Given the description of an element on the screen output the (x, y) to click on. 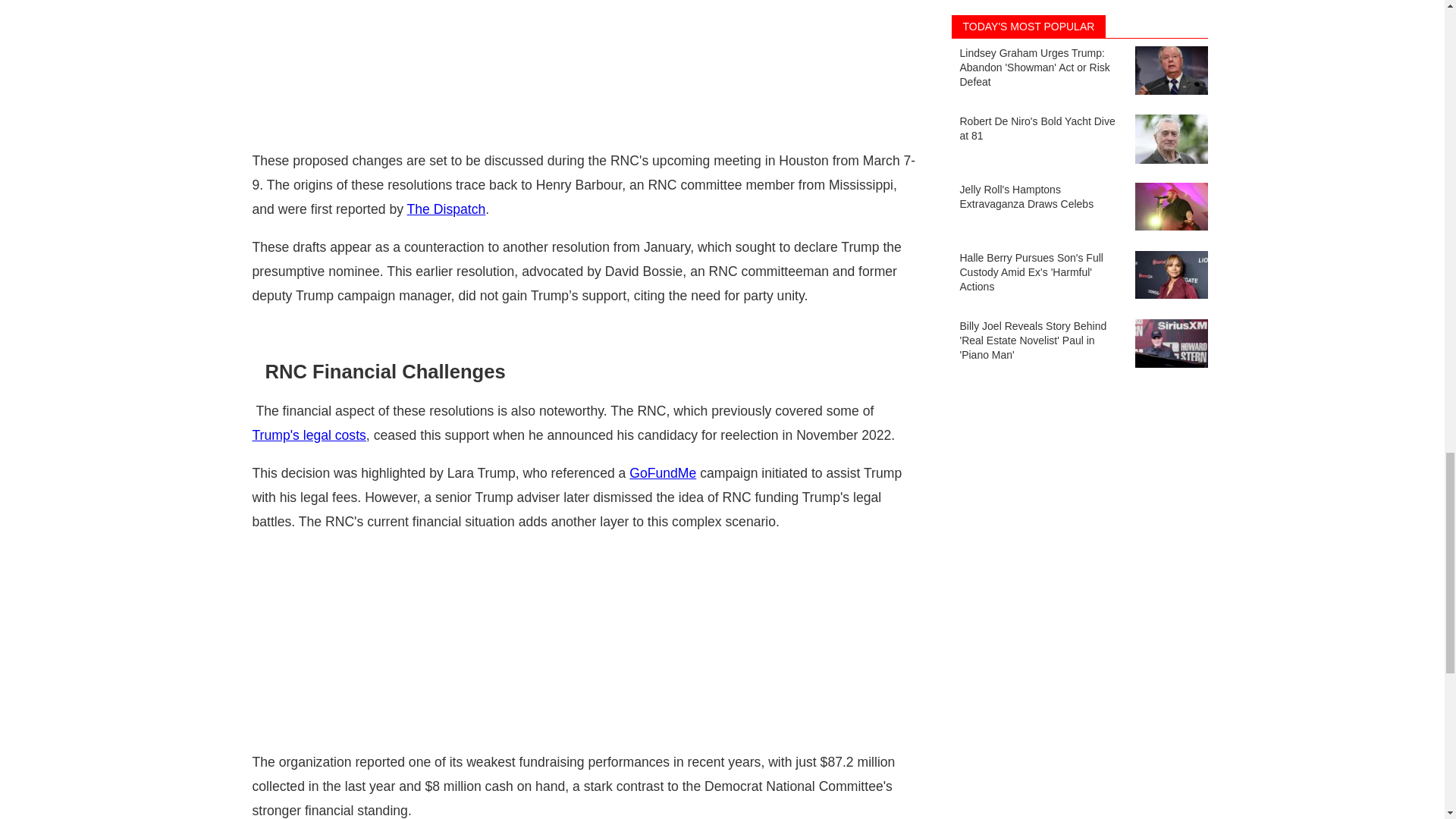
Trump's legal costs (308, 435)
The Dispatch (446, 209)
GoFundMe (661, 473)
